Given the description of an element on the screen output the (x, y) to click on. 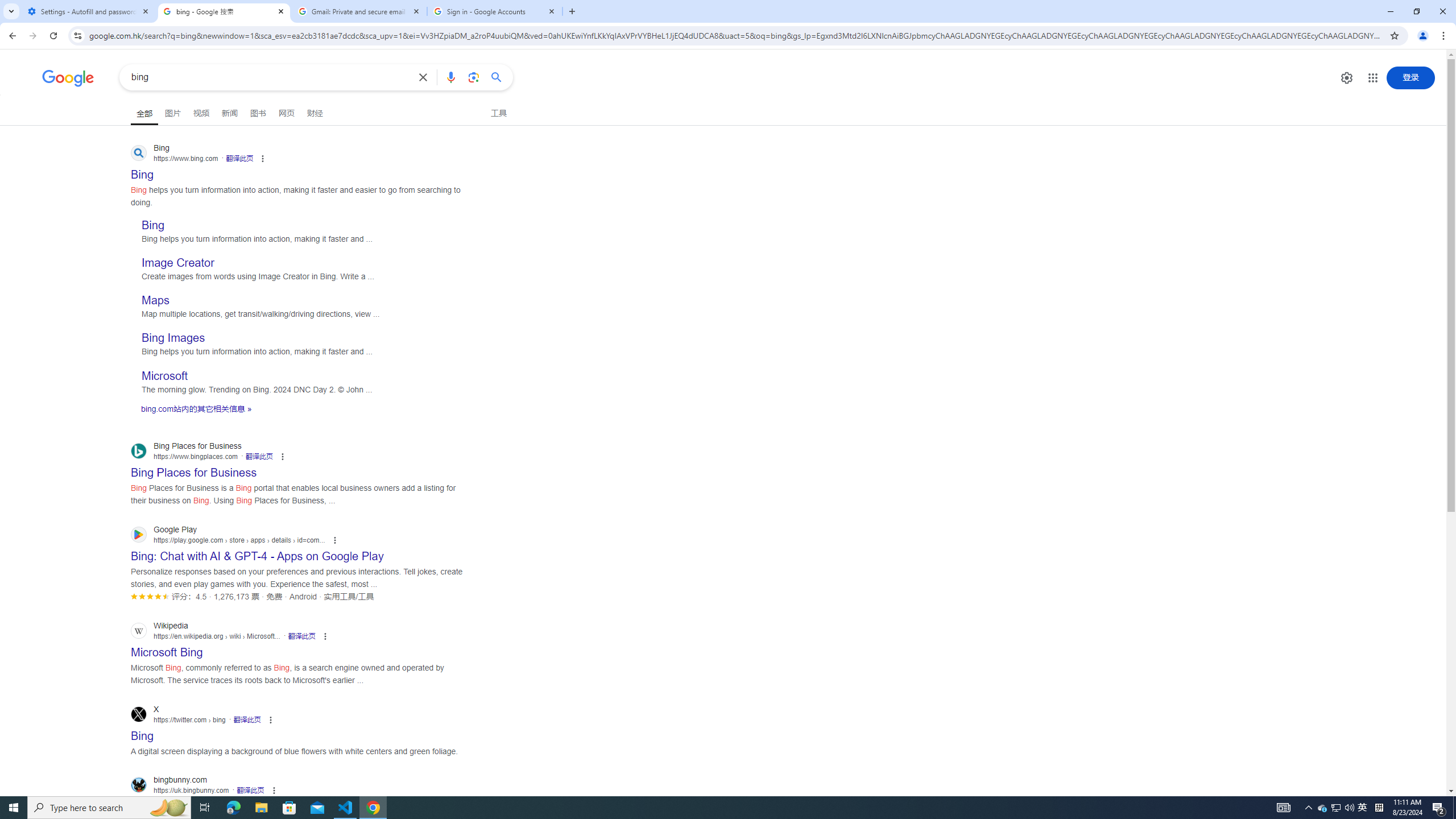
 Bing Bing https://www.bing.com (142, 171)
Maps (154, 300)
Image Creator (177, 262)
